Given the description of an element on the screen output the (x, y) to click on. 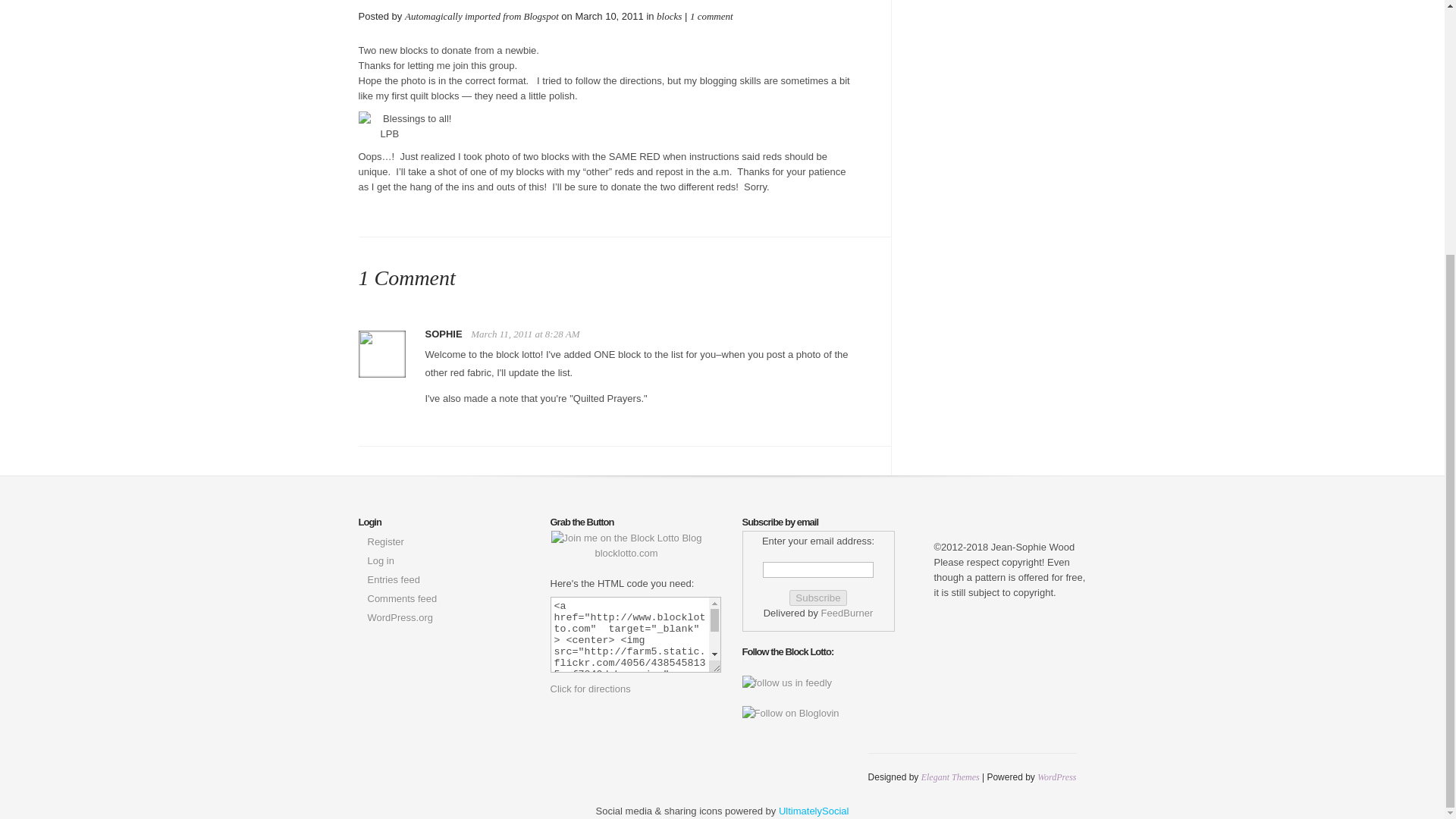
Comments feed (401, 598)
Subscribe (817, 597)
blocklotto.com (626, 545)
WordPress (1055, 777)
Elegant Themes (950, 777)
Automagically imported from Blogspot (481, 16)
WordPress.org (399, 617)
Register (384, 541)
Log in (379, 560)
Premium WordPress Themes (950, 777)
